Given the description of an element on the screen output the (x, y) to click on. 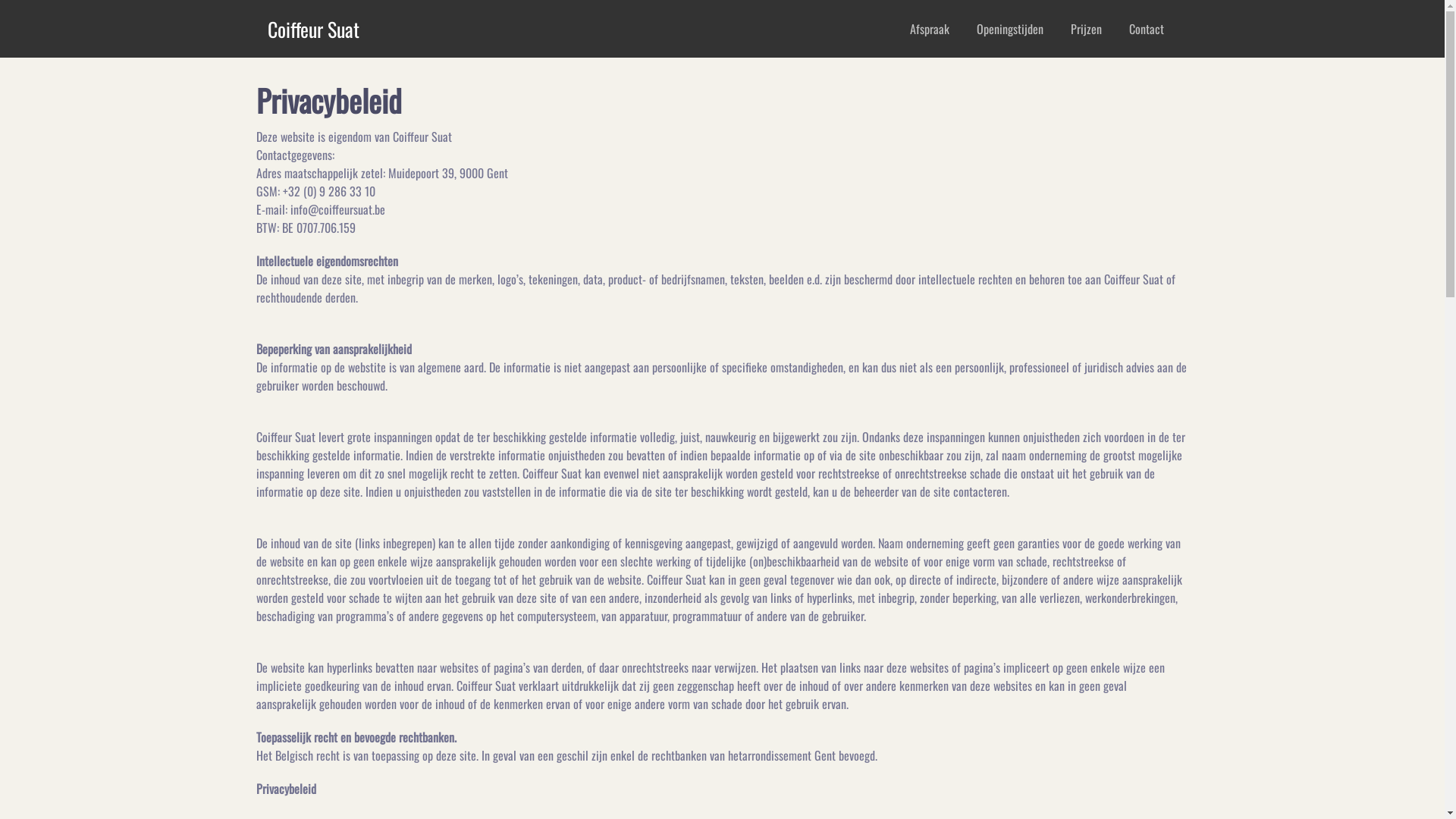
Prijzen Element type: text (1086, 28)
Openingstijden Element type: text (1010, 28)
Afspraak Element type: text (929, 28)
Coiffeur Suat Element type: text (312, 28)
Contact Element type: text (1145, 28)
